Given the description of an element on the screen output the (x, y) to click on. 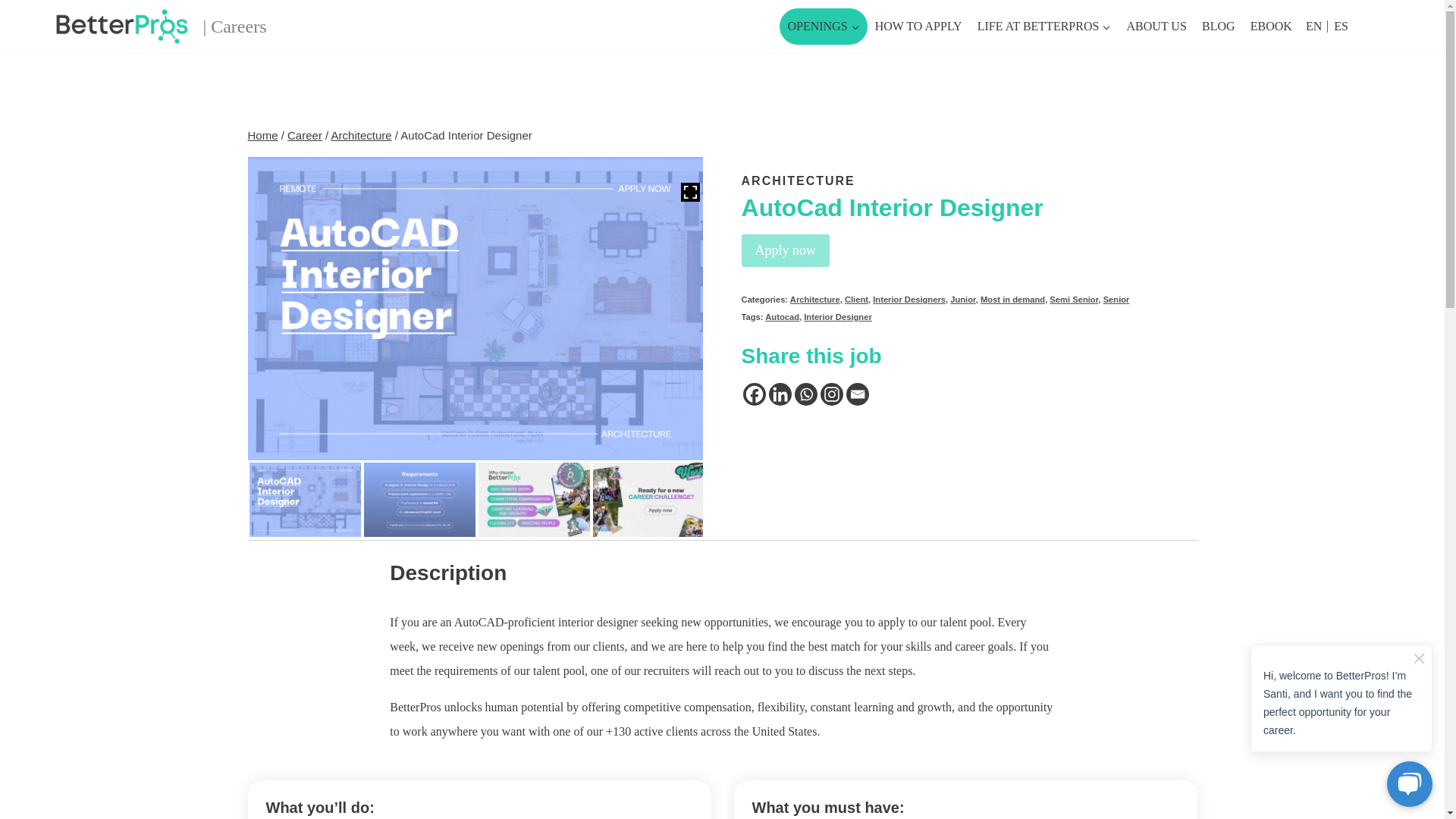
Facebook (753, 394)
EN (1313, 26)
BLOG (1218, 26)
ES (1340, 26)
Why choose BetterPros (533, 499)
EBOOK (1271, 26)
Linkedin (780, 394)
AutoCAD Interior Designer 1 (303, 499)
ES (1340, 26)
EN (1313, 26)
HOW TO APPLY (918, 26)
ABOUT US (1155, 26)
Full Screen (690, 191)
Why choose BetterPros 2 (648, 499)
